Given the description of an element on the screen output the (x, y) to click on. 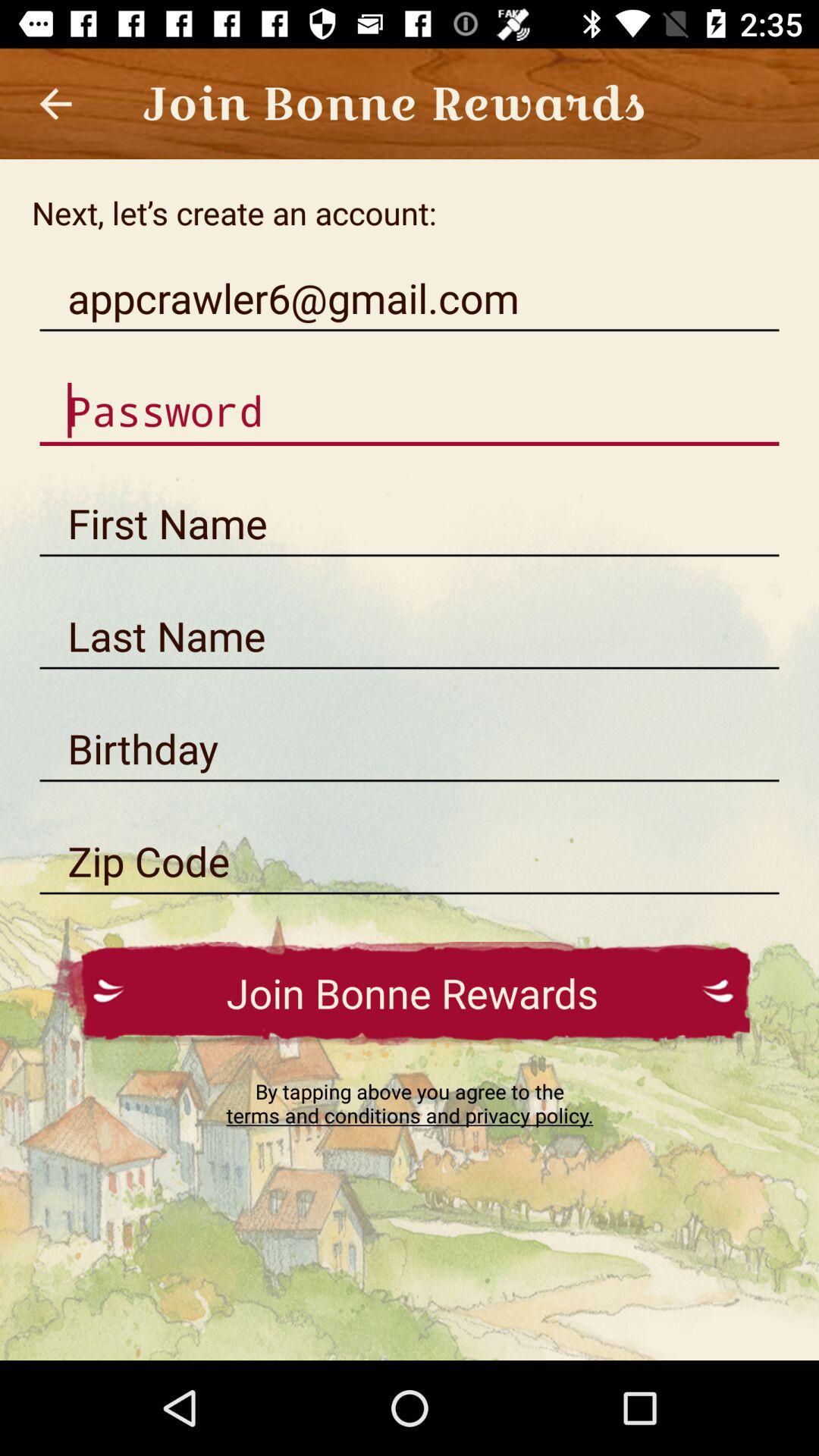
enter birthday (409, 748)
